Given the description of an element on the screen output the (x, y) to click on. 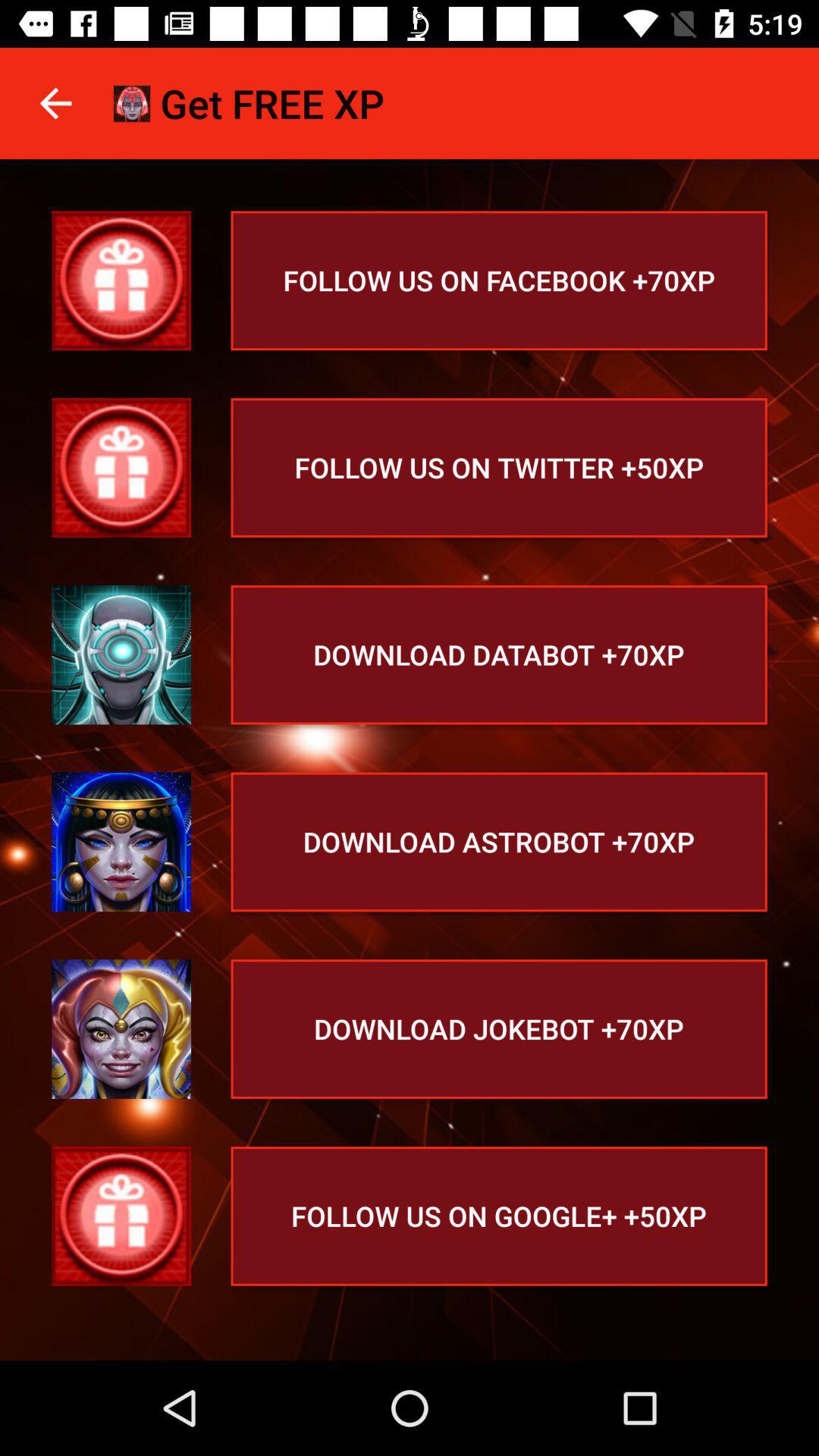
jokebot logo (121, 1028)
